Given the description of an element on the screen output the (x, y) to click on. 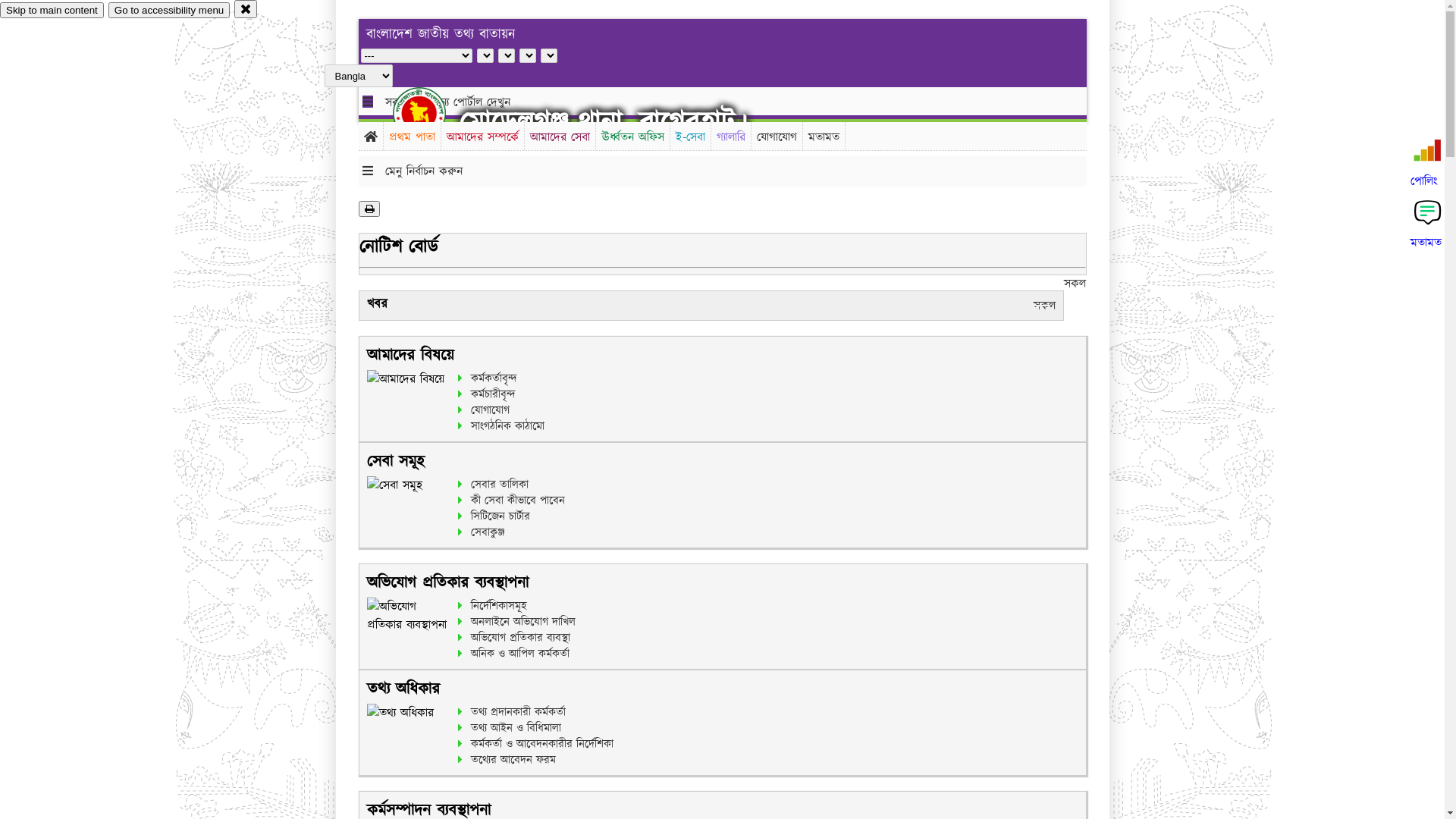

                
             Element type: hover (431, 112)
Go to accessibility menu Element type: text (168, 10)
close Element type: hover (245, 9)
Skip to main content Element type: text (51, 10)
